Given the description of an element on the screen output the (x, y) to click on. 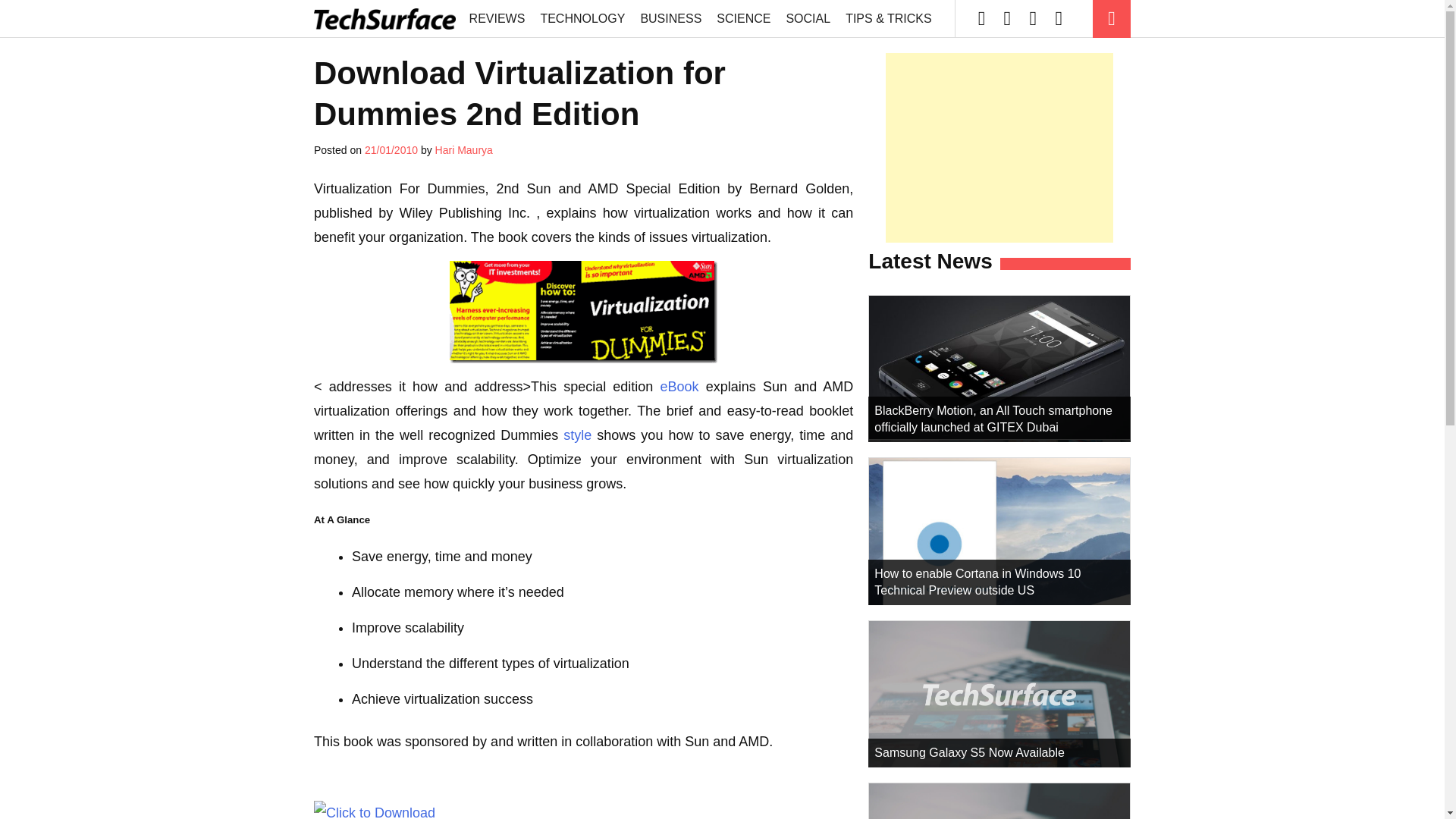
eBook (679, 386)
BUSINESS (670, 18)
Click to Download (374, 809)
Hari Maurya (464, 150)
REVIEWS (496, 18)
SCIENCE (743, 18)
virtualization (583, 312)
Techsurface (386, 18)
